Given the description of an element on the screen output the (x, y) to click on. 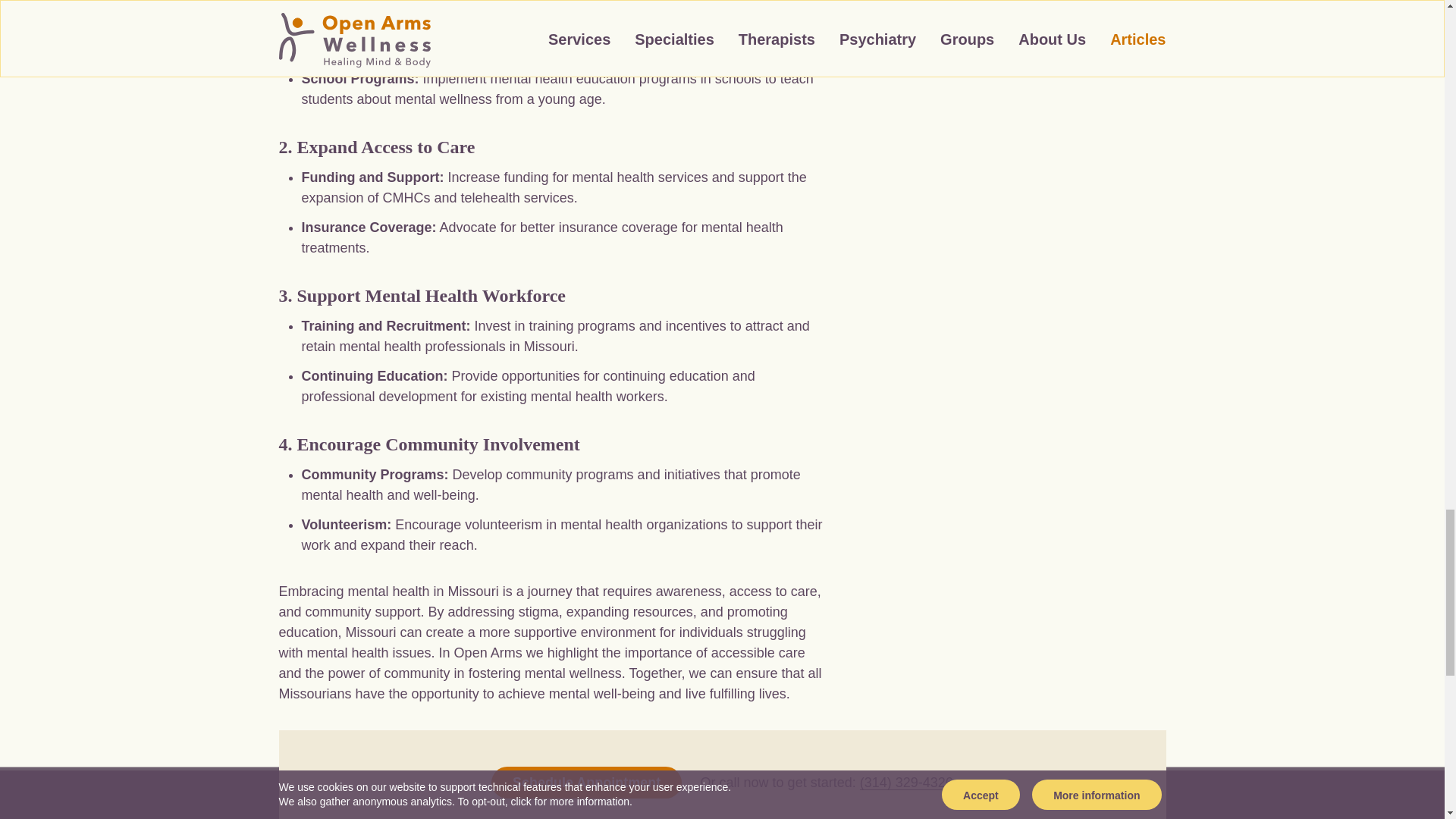
Schedule Appointment (586, 782)
